Given the description of an element on the screen output the (x, y) to click on. 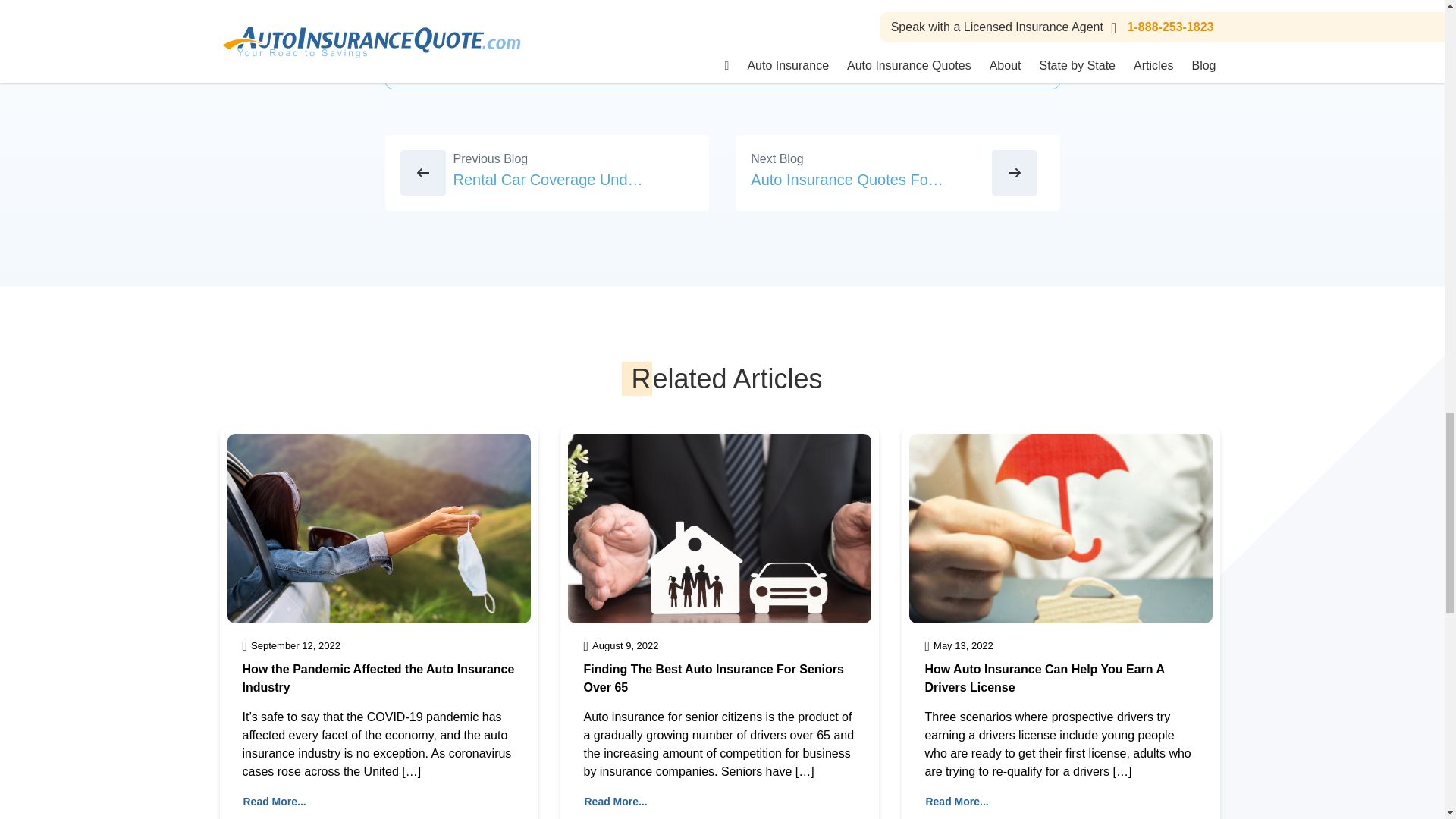
Read More... (956, 801)
Read More... (615, 801)
collision and comprehensive coverage (690, 43)
auto insurance quote (514, 43)
Read More... (275, 801)
